Given the description of an element on the screen output the (x, y) to click on. 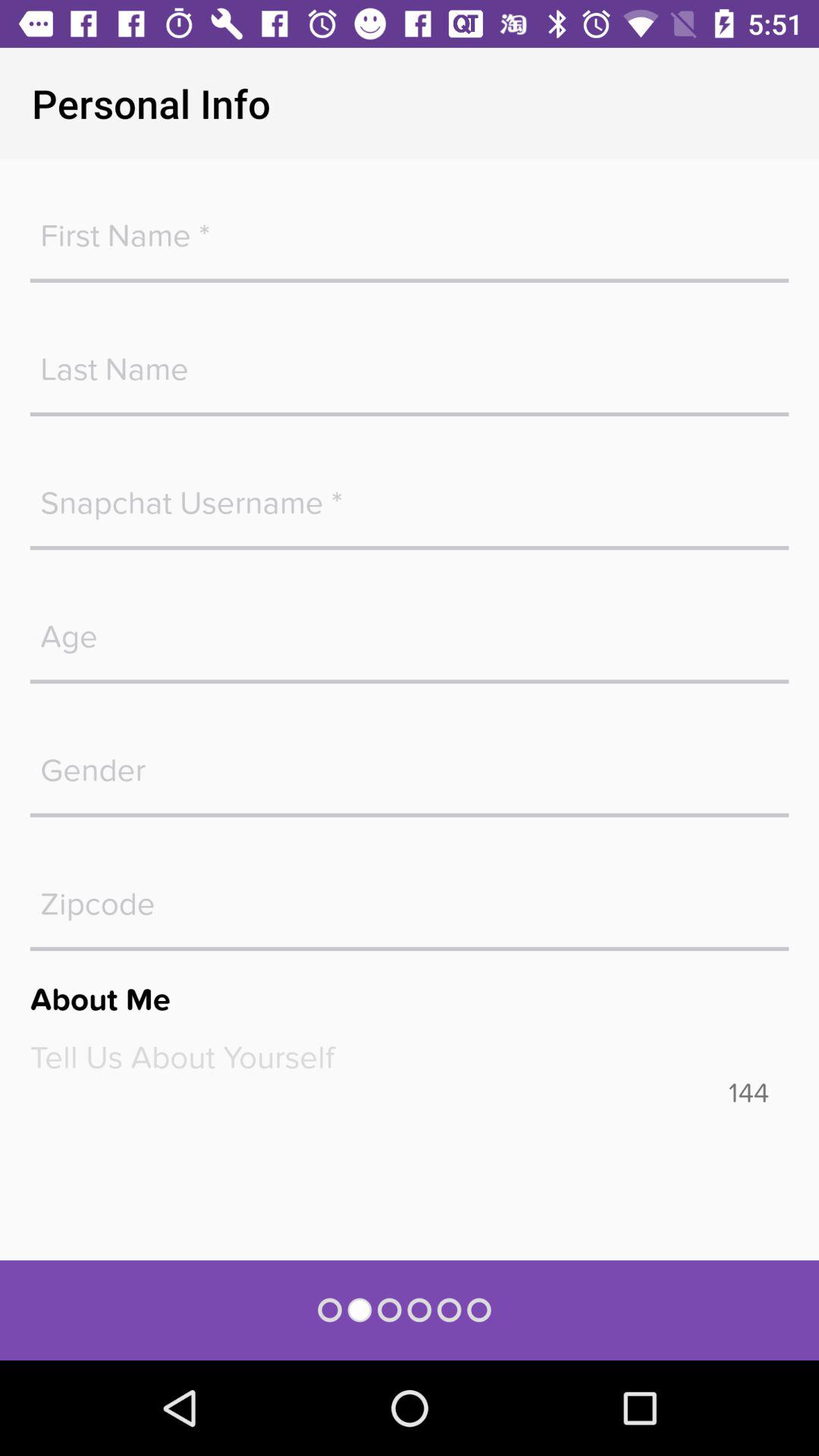
enter your age (409, 628)
